Given the description of an element on the screen output the (x, y) to click on. 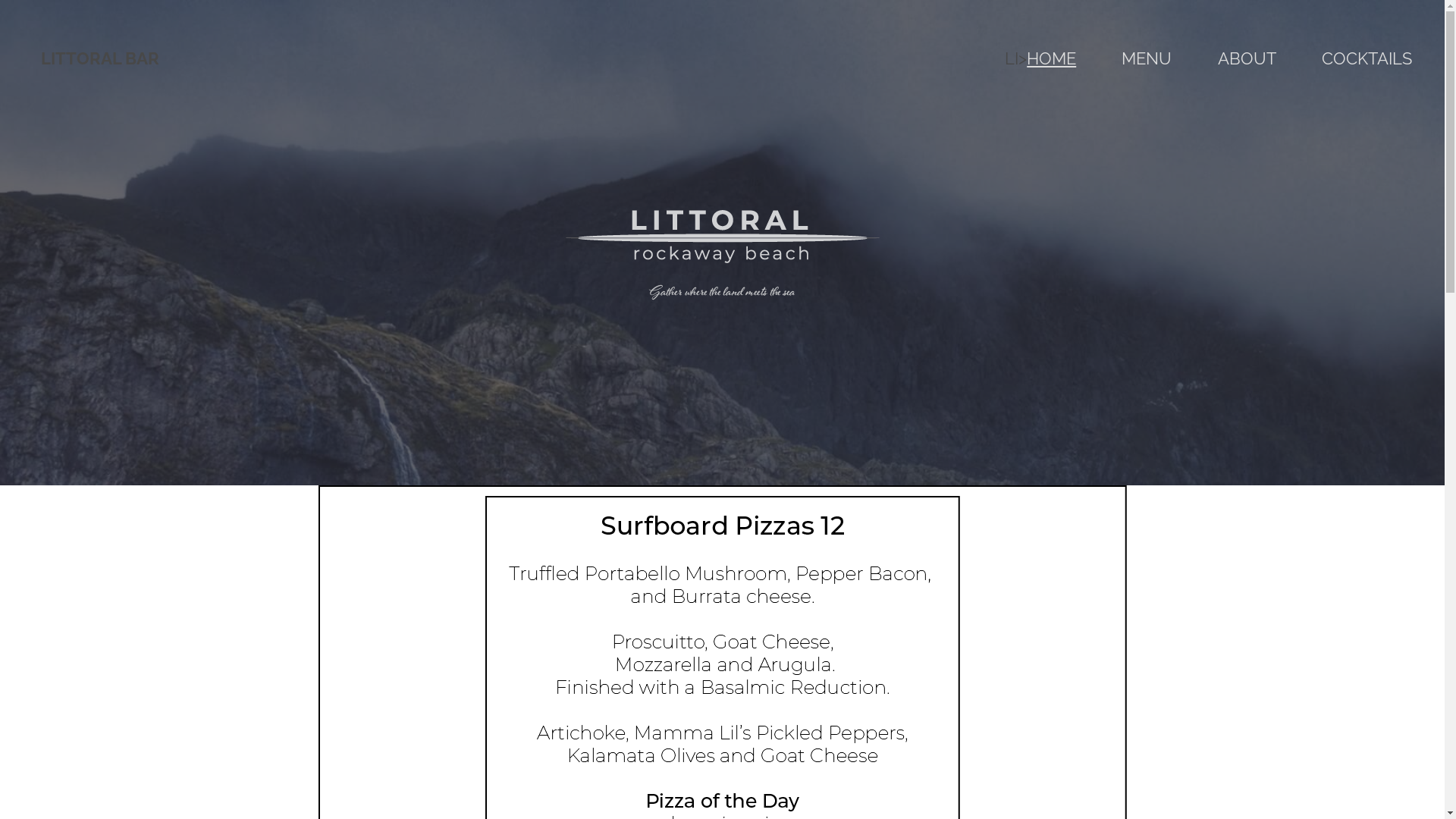
ABOUT Element type: text (1246, 58)
COCKTAILS Element type: text (1366, 58)
MENU Element type: text (1146, 58)
HOME Element type: text (1051, 58)
